Given the description of an element on the screen output the (x, y) to click on. 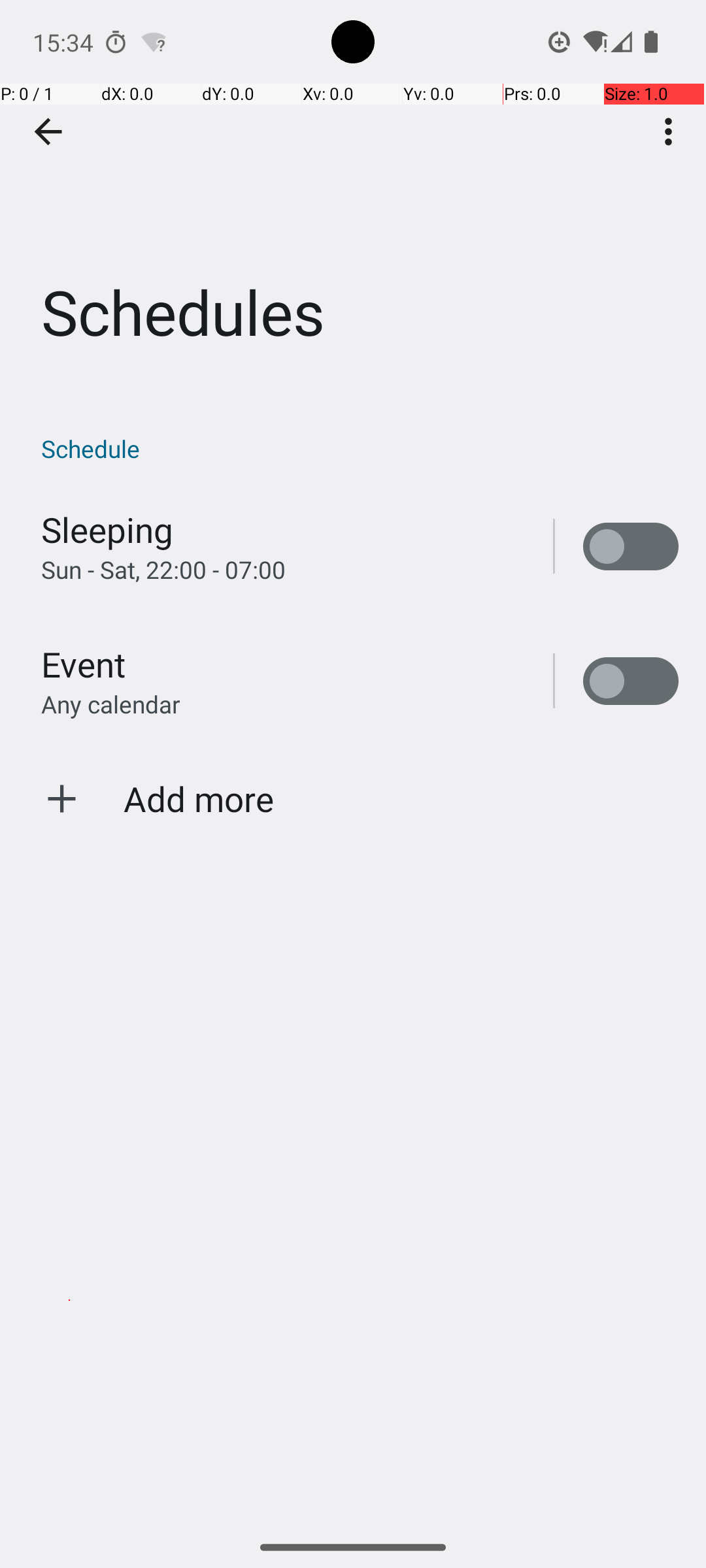
Schedule Element type: android.widget.TextView (359, 448)
Sleeping Element type: android.widget.TextView (107, 529)
Sun - Sat, 22:00 - 07:00 Element type: android.widget.TextView (163, 569)
Any calendar Element type: android.widget.TextView (110, 703)
Add more Element type: android.widget.TextView (198, 798)
